Given the description of an element on the screen output the (x, y) to click on. 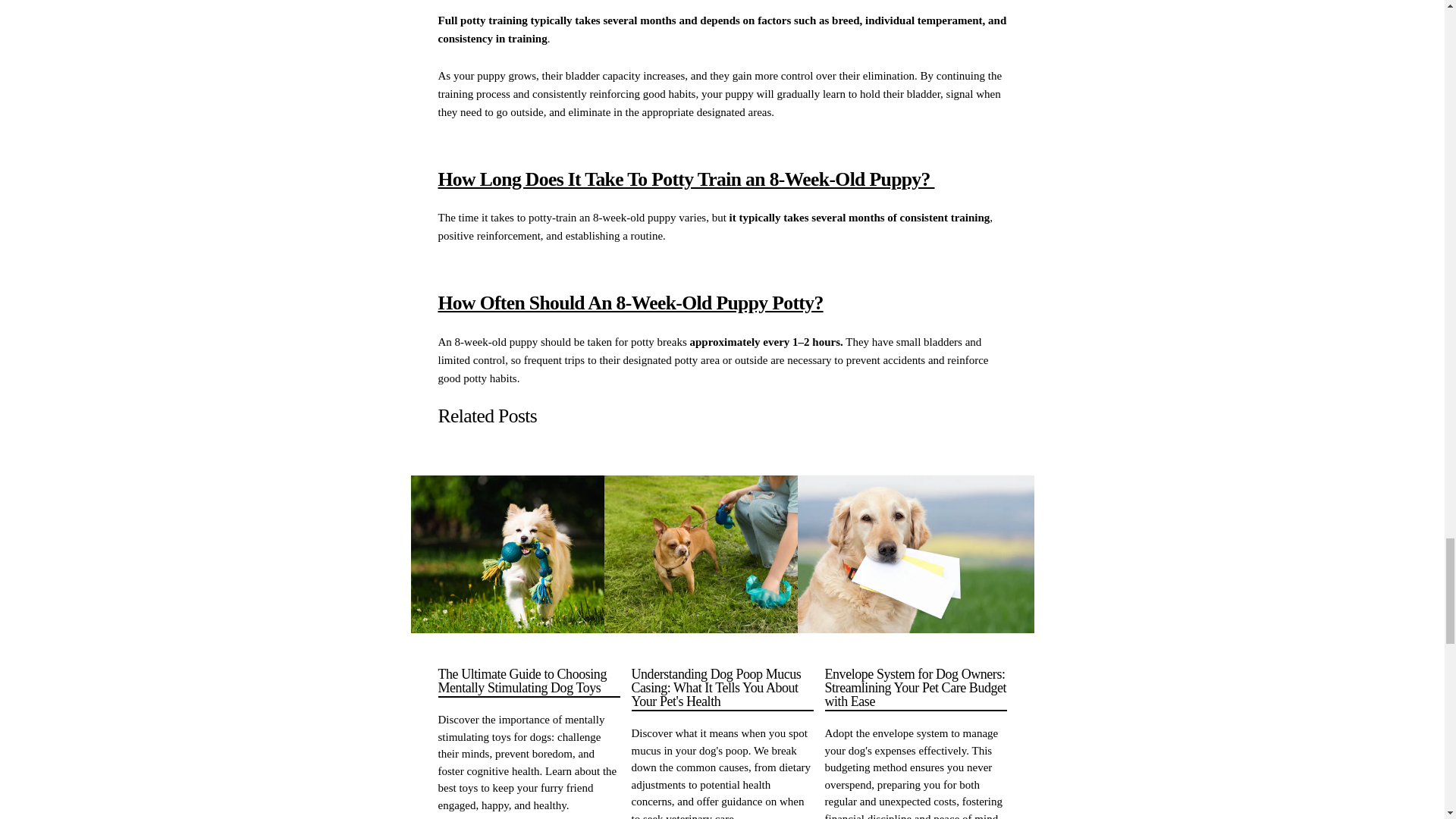
The Ultimate Guide to Choosing Mentally Stimulating Dog Toys (529, 682)
